Given the description of an element on the screen output the (x, y) to click on. 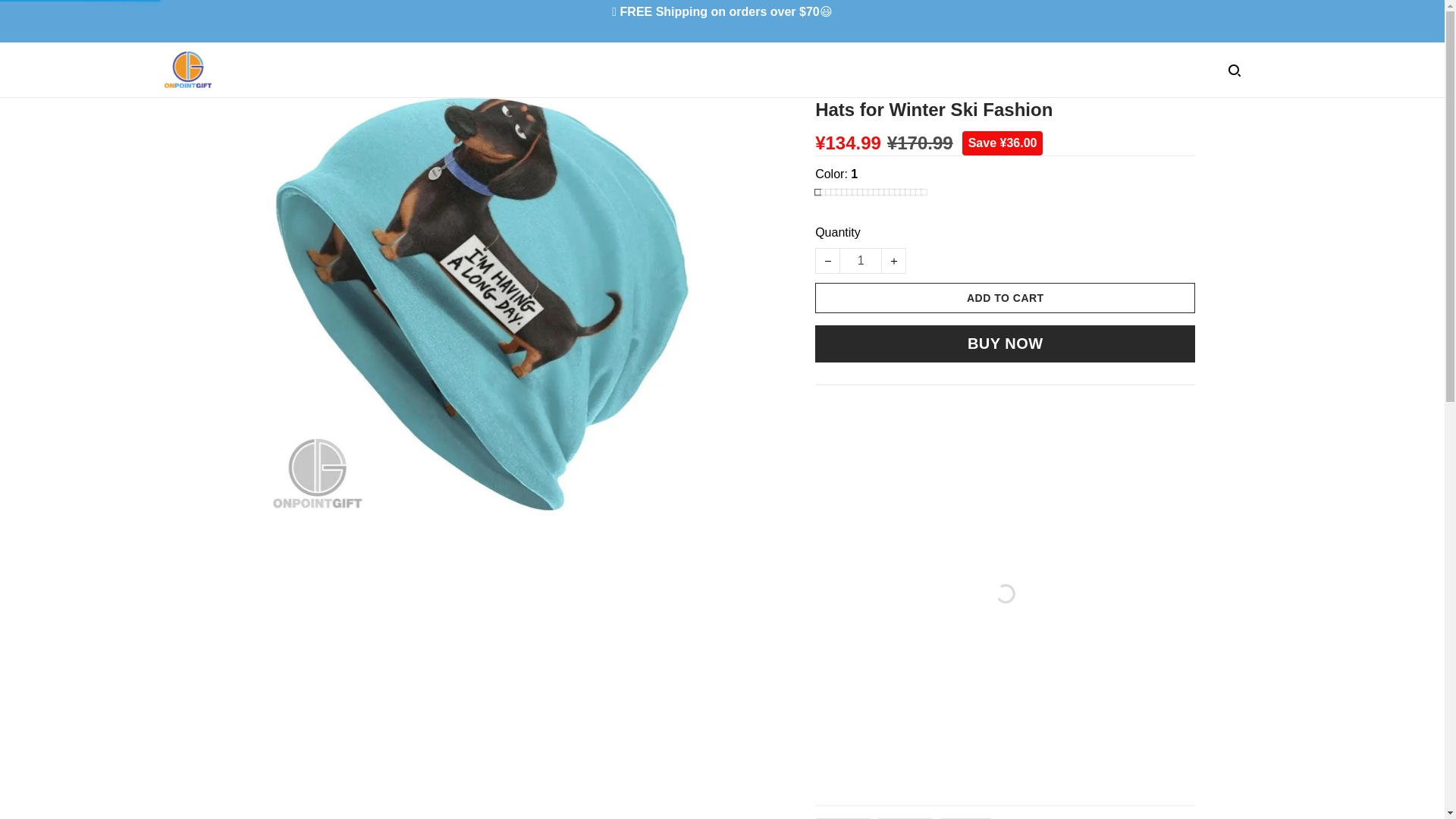
Share on Facebook (842, 818)
Tweet (905, 818)
Pin it (965, 818)
Share on Twitter (905, 818)
1 (860, 260)
Share (842, 818)
Pin on Pinterest (965, 818)
BUY NOW (1005, 343)
ADD TO CART (1005, 297)
